Given the description of an element on the screen output the (x, y) to click on. 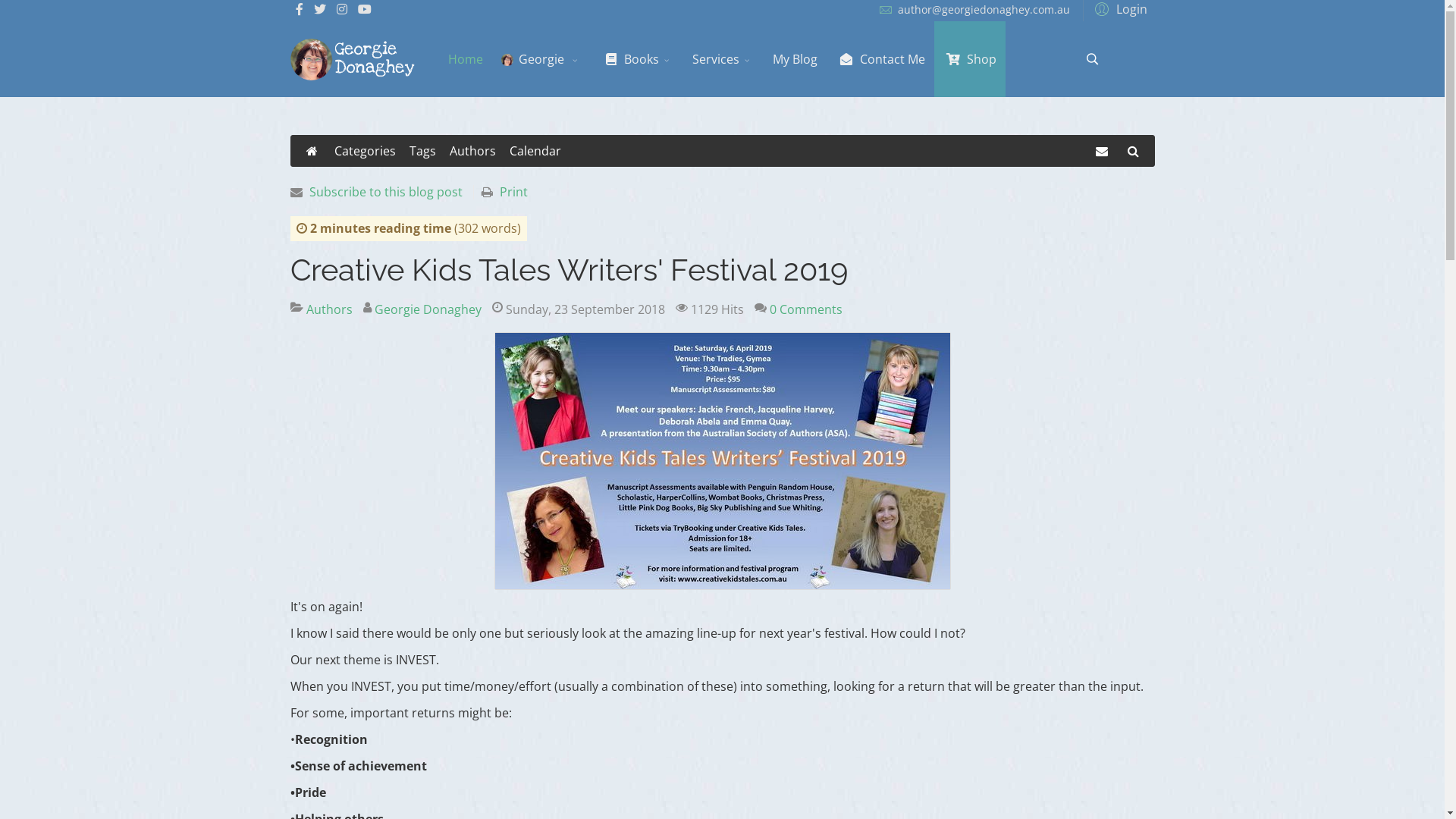
Contact Me Element type: text (879, 59)
Services Element type: text (723, 59)
Categories Element type: text (364, 150)
Books Element type: text (637, 59)
Subscribe to this blog post Element type: text (385, 191)
Calendar Element type: text (535, 150)
Authors Element type: text (329, 309)
0 Comments Element type: text (804, 309)
Georgie Donaghey Element type: text (427, 309)
Login Element type: text (1118, 8)
Georgie Element type: text (541, 59)
Home Element type: text (465, 59)
Print Element type: text (512, 191)
Authors Element type: text (471, 150)
My Blog Element type: text (794, 59)
Shop Element type: text (969, 59)
Tags Element type: text (422, 150)
